Given the description of an element on the screen output the (x, y) to click on. 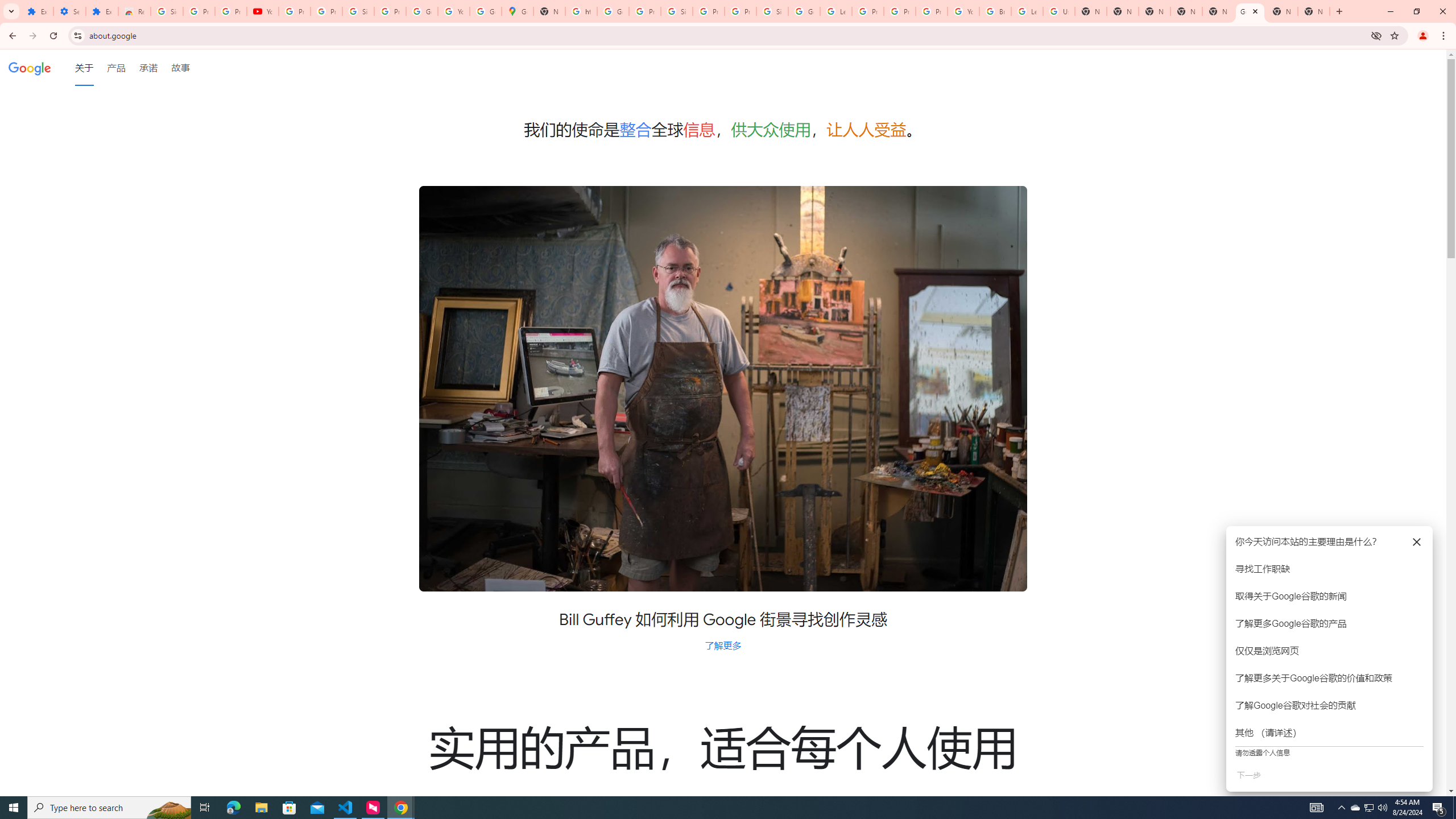
Privacy Help Center - Policies Help (868, 11)
Restore (1416, 11)
Sign in - Google Accounts (166, 11)
Bookmark this tab (1393, 35)
YouTube (963, 11)
New Tab (1338, 11)
Forward (32, 35)
Extensions (101, 11)
You (1422, 35)
